Given the description of an element on the screen output the (x, y) to click on. 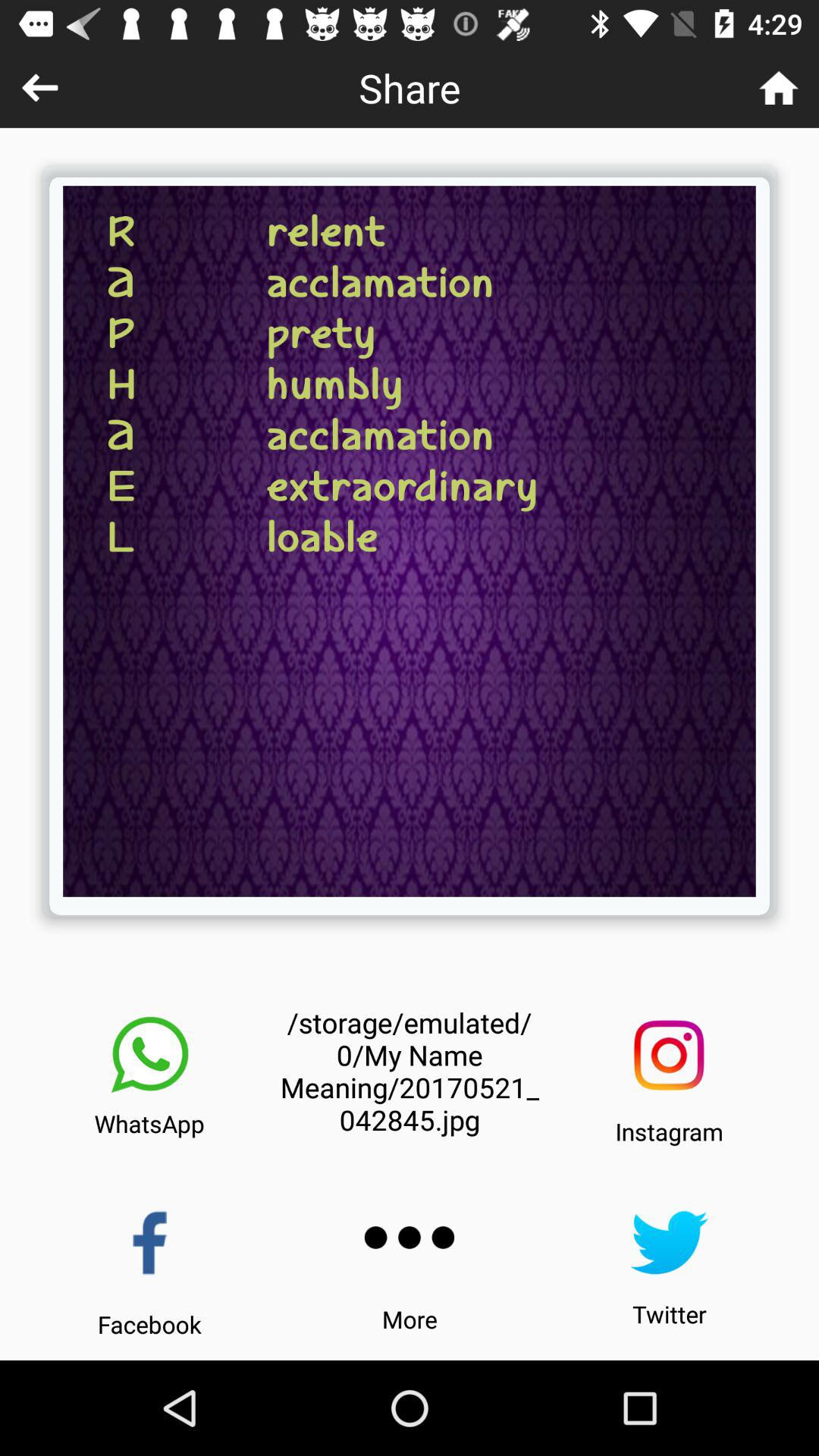
share on twitter (669, 1242)
